Given the description of an element on the screen output the (x, y) to click on. 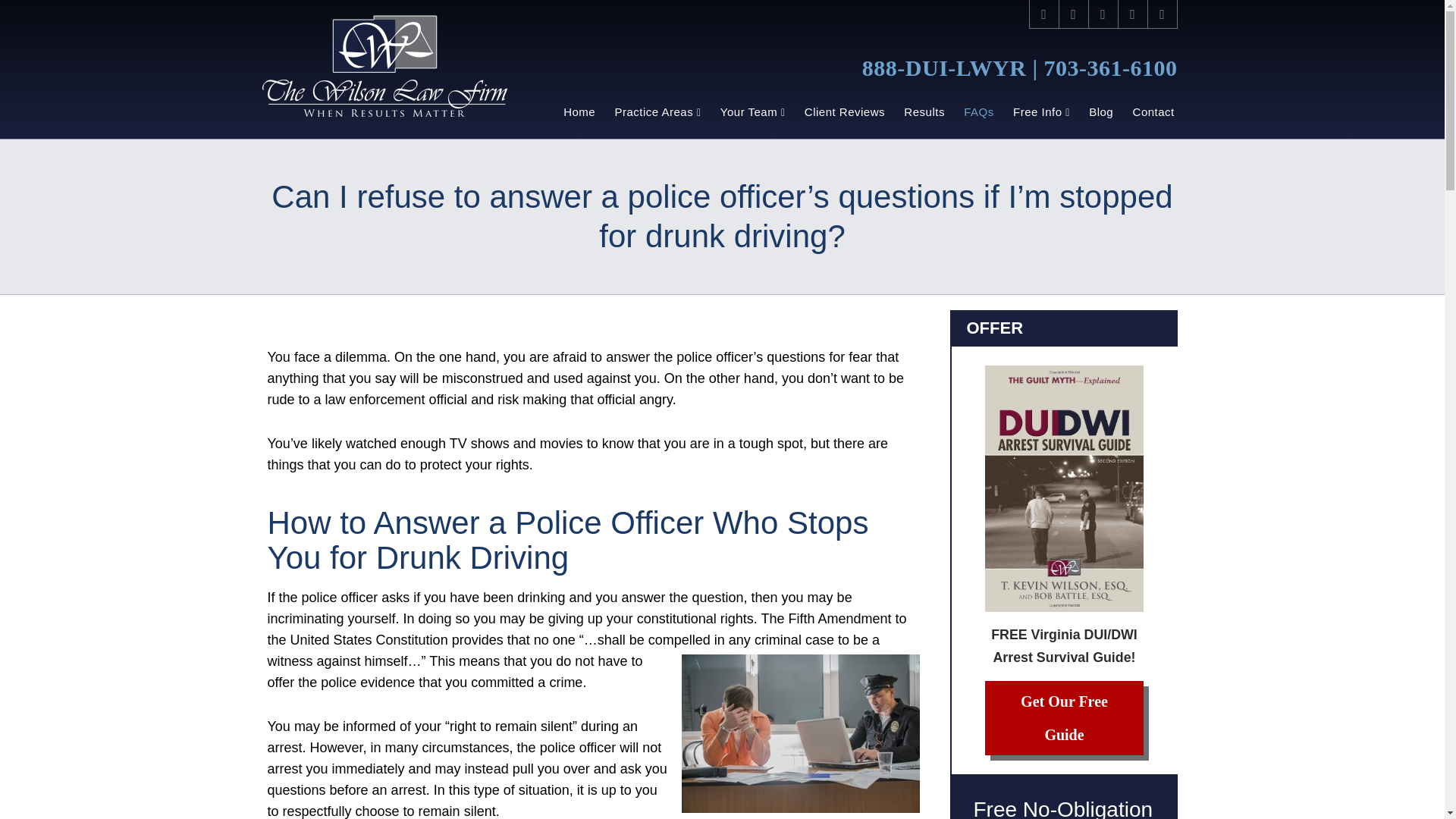
Results (925, 112)
FAQs (979, 112)
Your Team (752, 112)
Free Info (1040, 112)
Home (578, 112)
Practice Areas (657, 112)
Client Reviews (844, 112)
Contact (1153, 112)
